Given the description of an element on the screen output the (x, y) to click on. 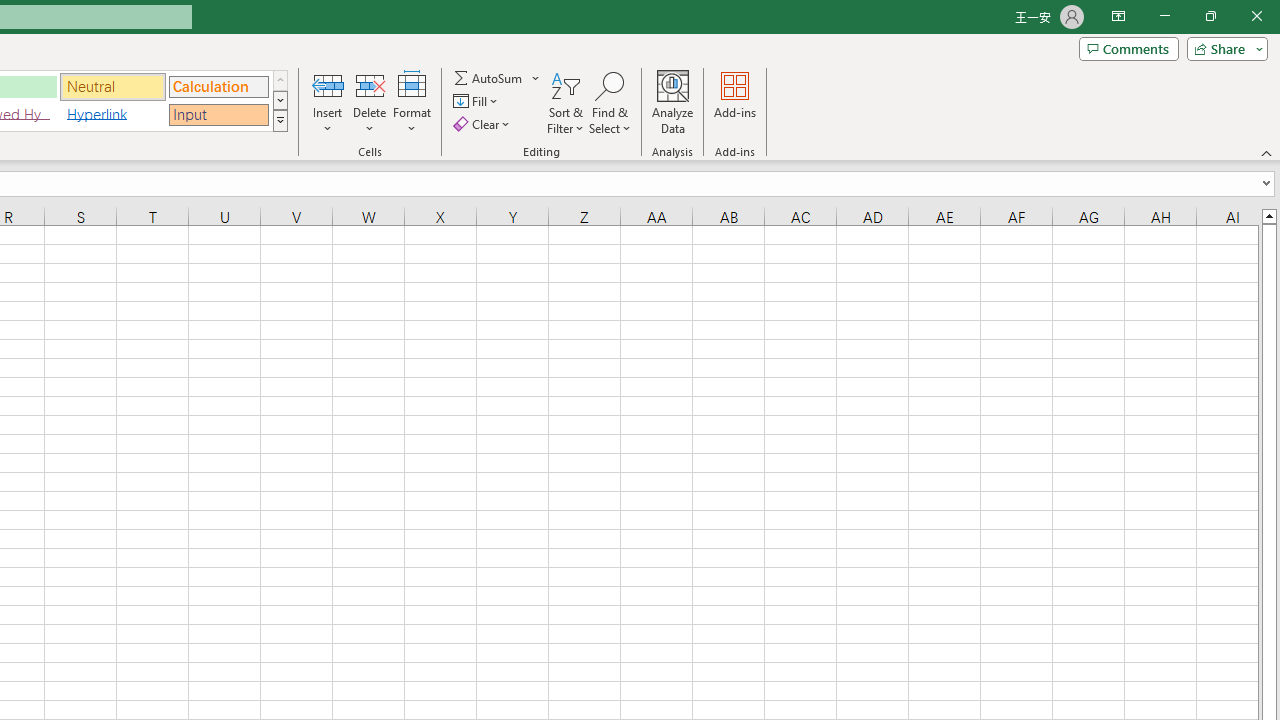
Clear (483, 124)
Format (411, 102)
Delete (369, 102)
Neutral (113, 86)
Close (1256, 16)
Line up (1268, 215)
Input (218, 114)
Find & Select (610, 102)
Insert (328, 102)
Class: NetUIImage (280, 120)
Cell Styles (280, 120)
Fill (477, 101)
Calculation (218, 86)
Analyze Data (673, 102)
Minimize (1164, 16)
